Given the description of an element on the screen output the (x, y) to click on. 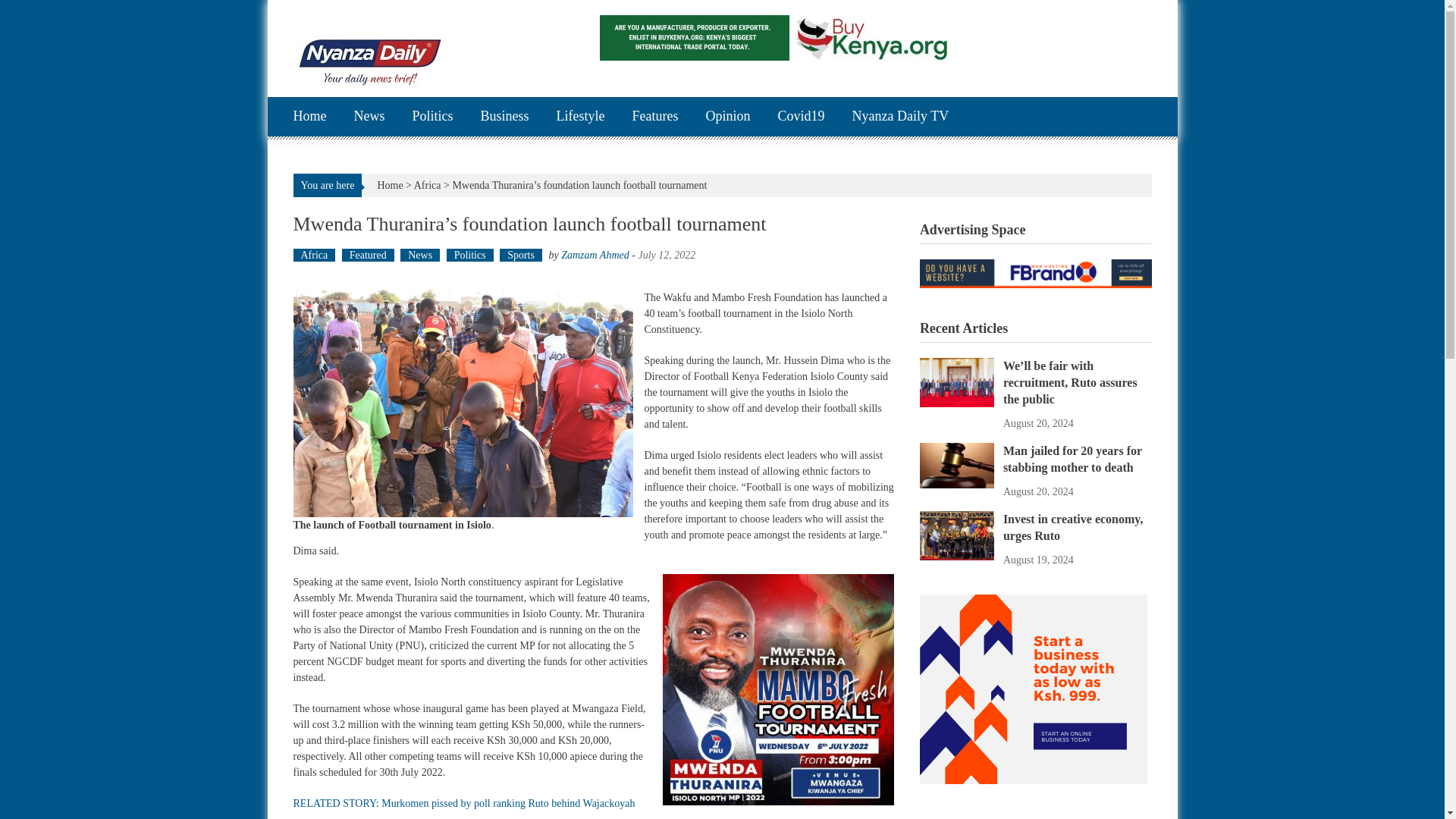
Search (862, 422)
Politics (432, 116)
Lifestyle (580, 116)
Opinion (726, 116)
Sports (520, 254)
Business (504, 116)
Politics (469, 254)
Zamzam Ahmed (594, 255)
News (368, 116)
Features (654, 116)
